Given the description of an element on the screen output the (x, y) to click on. 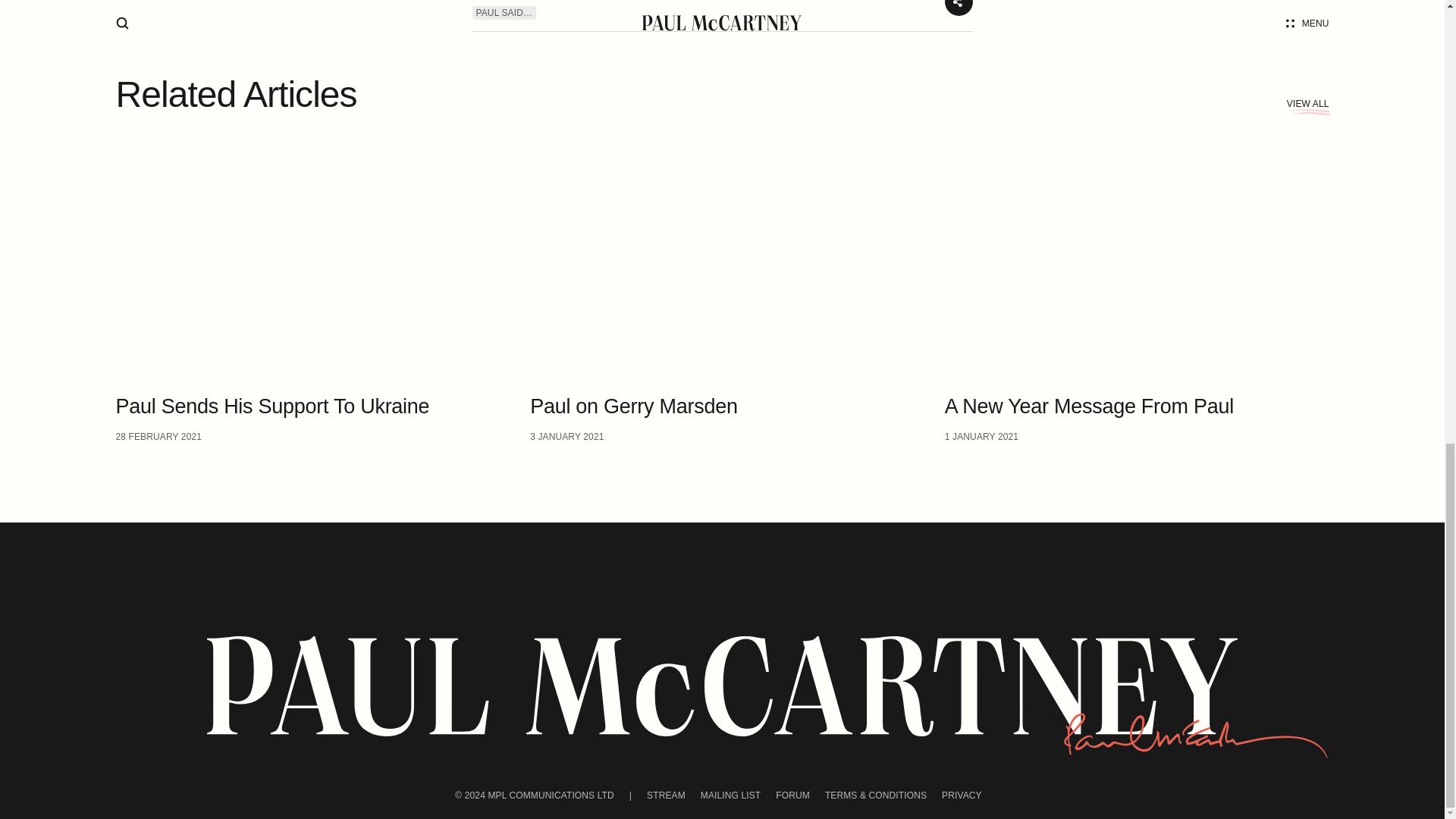
FORUM (721, 285)
PRIVACY (792, 795)
VIEW ALL (961, 795)
STREAM (307, 285)
MAILING LIST (1308, 103)
